Given the description of an element on the screen output the (x, y) to click on. 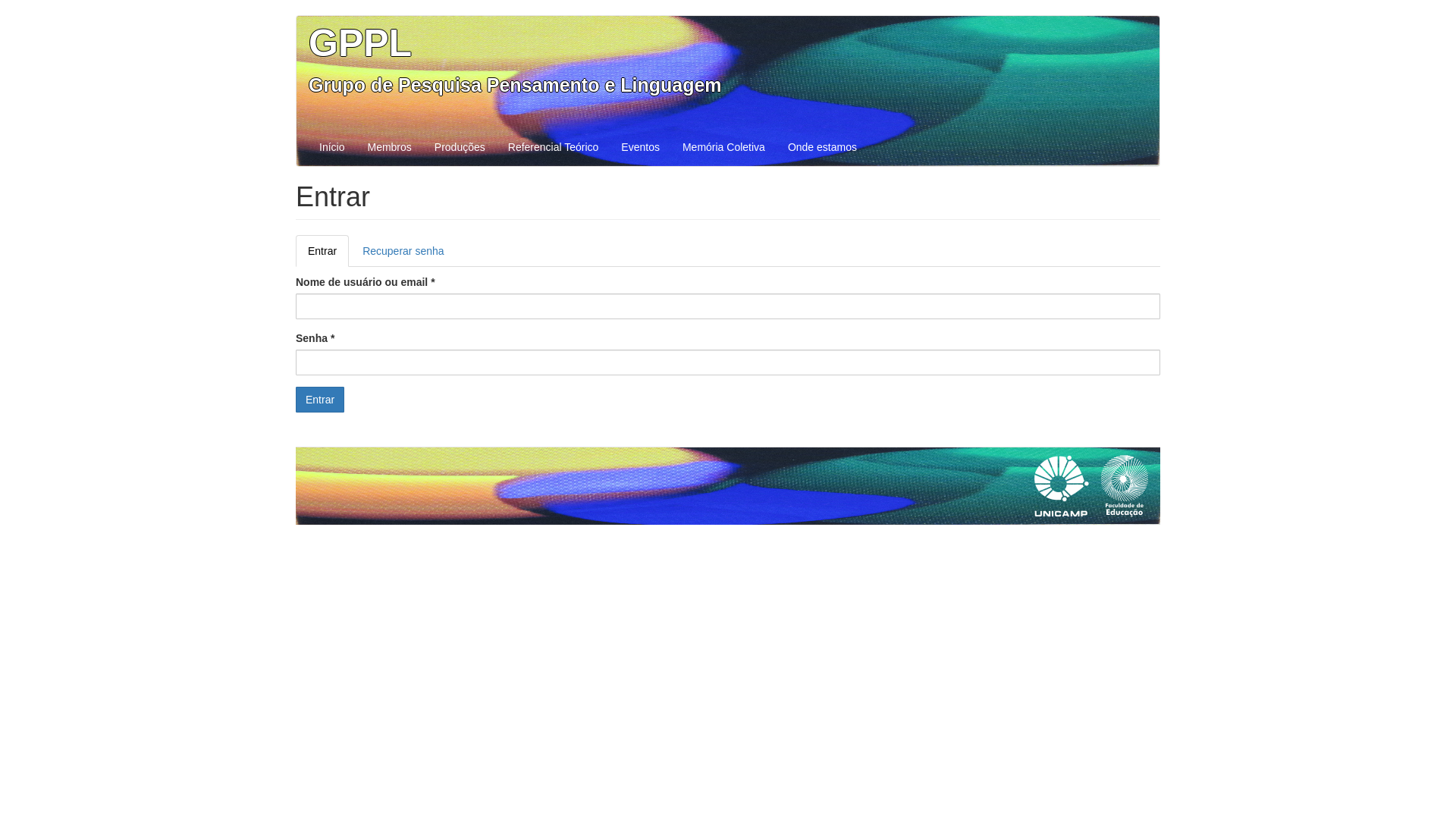
Entrar Element type: text (319, 399)
Onde estamos Element type: text (822, 147)
Eventos Element type: text (640, 147)
Entrar
(aba ativa) Element type: text (321, 250)
Recuperar senha Element type: text (402, 250)
Membros Element type: text (388, 147)
